Given the description of an element on the screen output the (x, y) to click on. 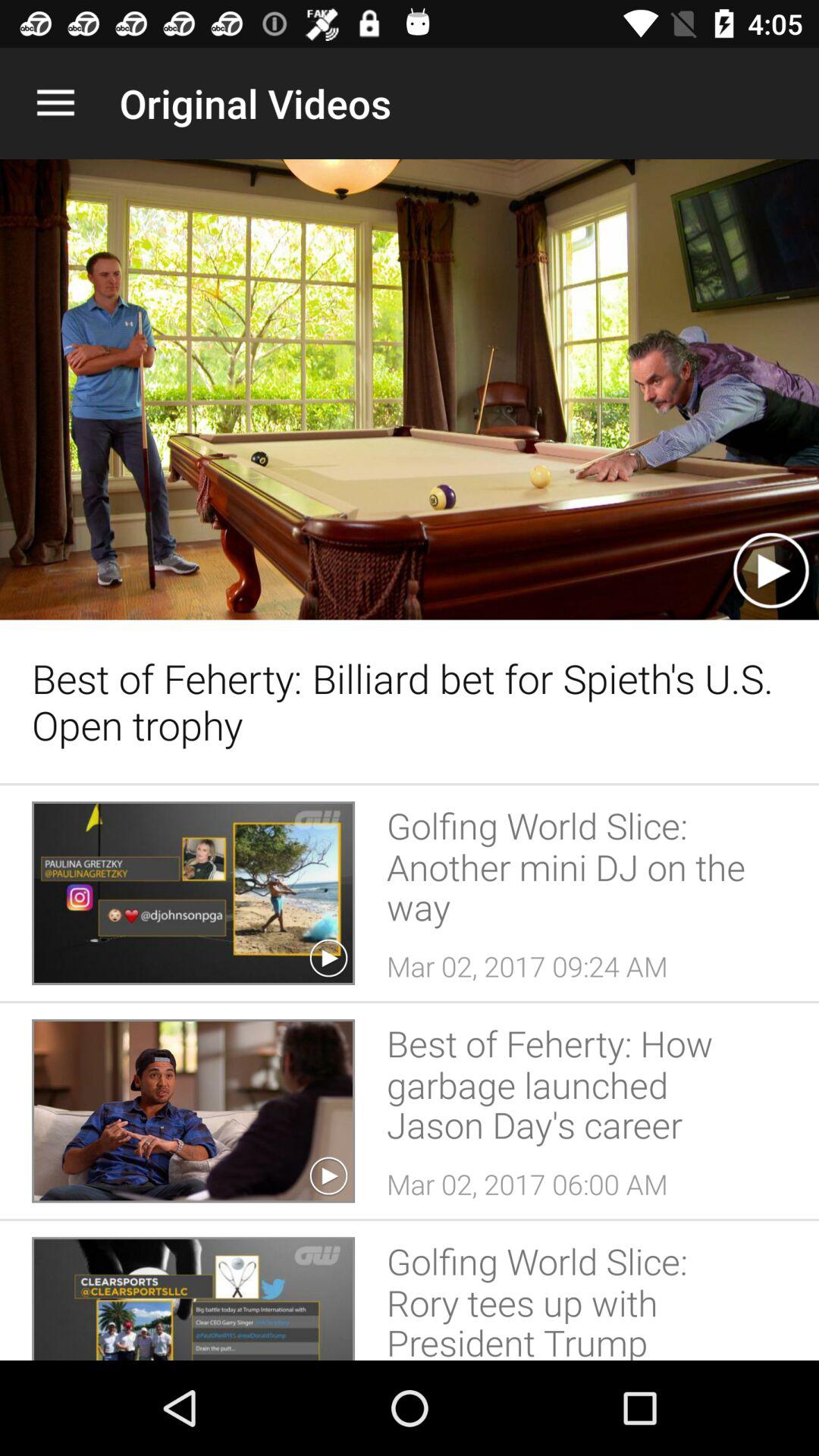
press icon next to original videos icon (55, 103)
